Given the description of an element on the screen output the (x, y) to click on. 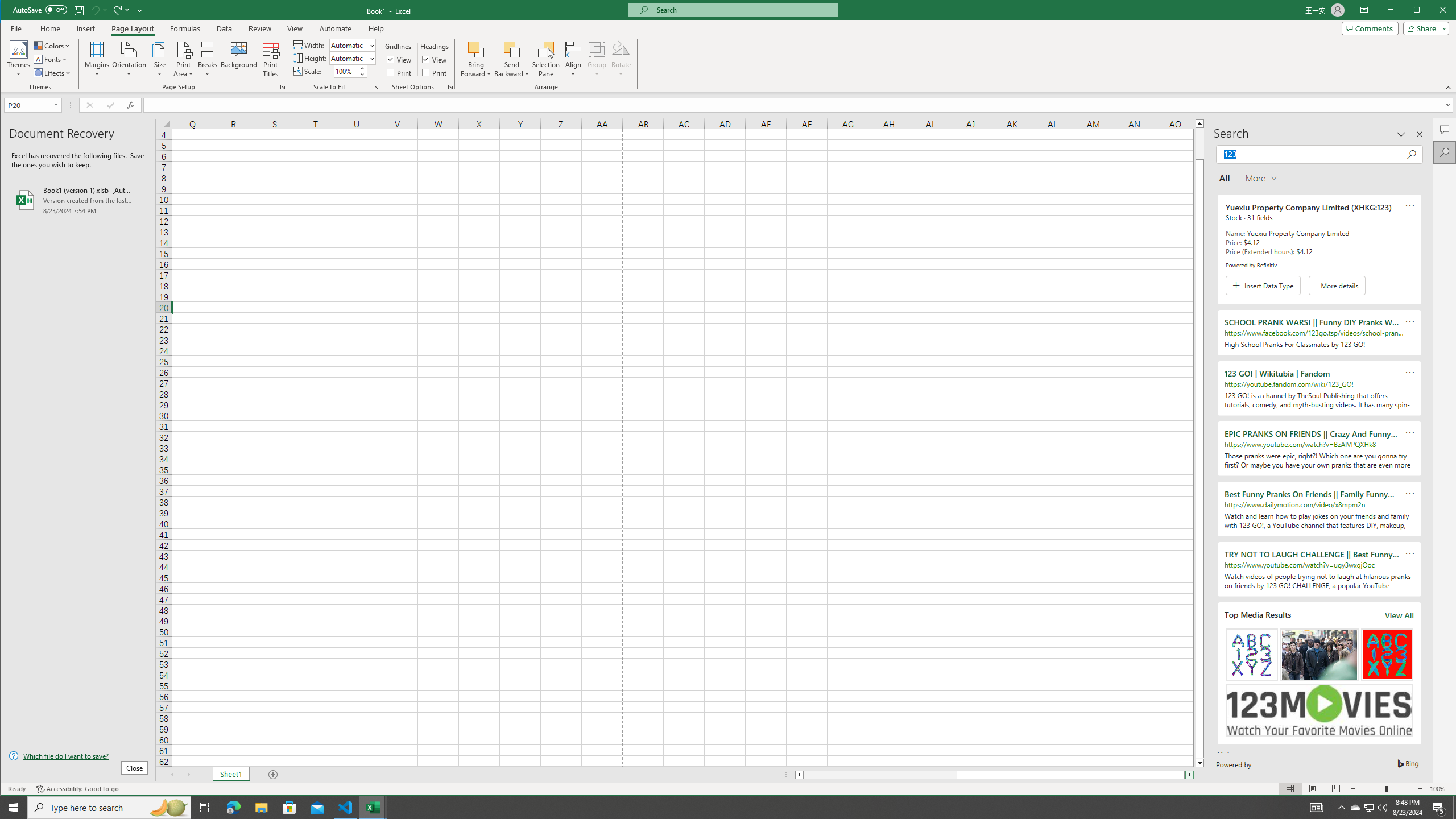
Class: MsoCommandBar (728, 45)
Bring Forward (476, 59)
Width (352, 44)
User Promoted Notification Area (1368, 807)
Q2790: 100% (1382, 807)
Effects (53, 72)
Class: NetUIScrollBar (994, 774)
Comments (1444, 128)
Microsoft search (742, 10)
Size (159, 59)
Automate (336, 28)
Scale (345, 71)
Breaks (207, 59)
